Given the description of an element on the screen output the (x, y) to click on. 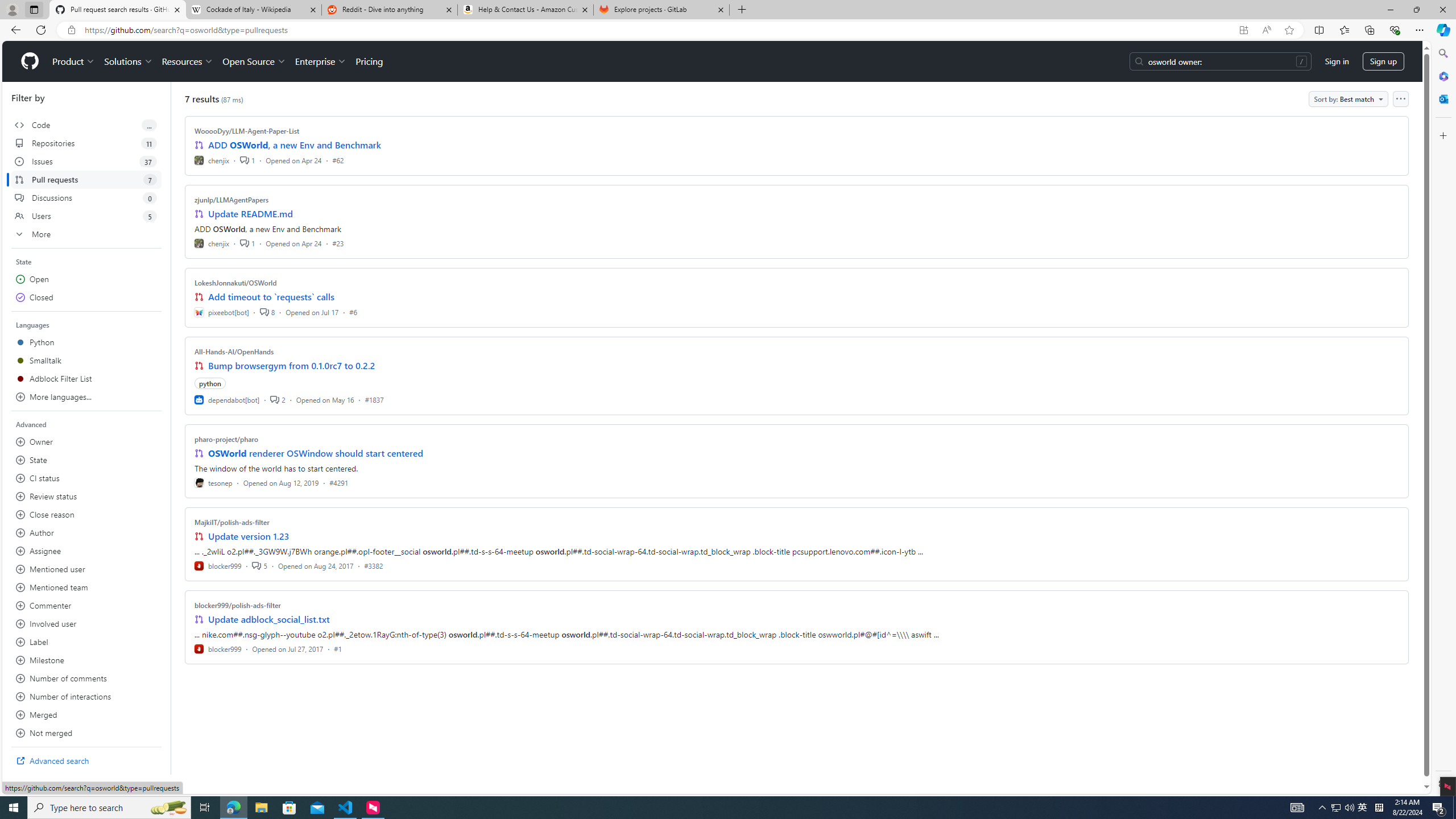
#23 (337, 242)
Enterprise (319, 60)
pixeebot[bot] (221, 311)
